Given the description of an element on the screen output the (x, y) to click on. 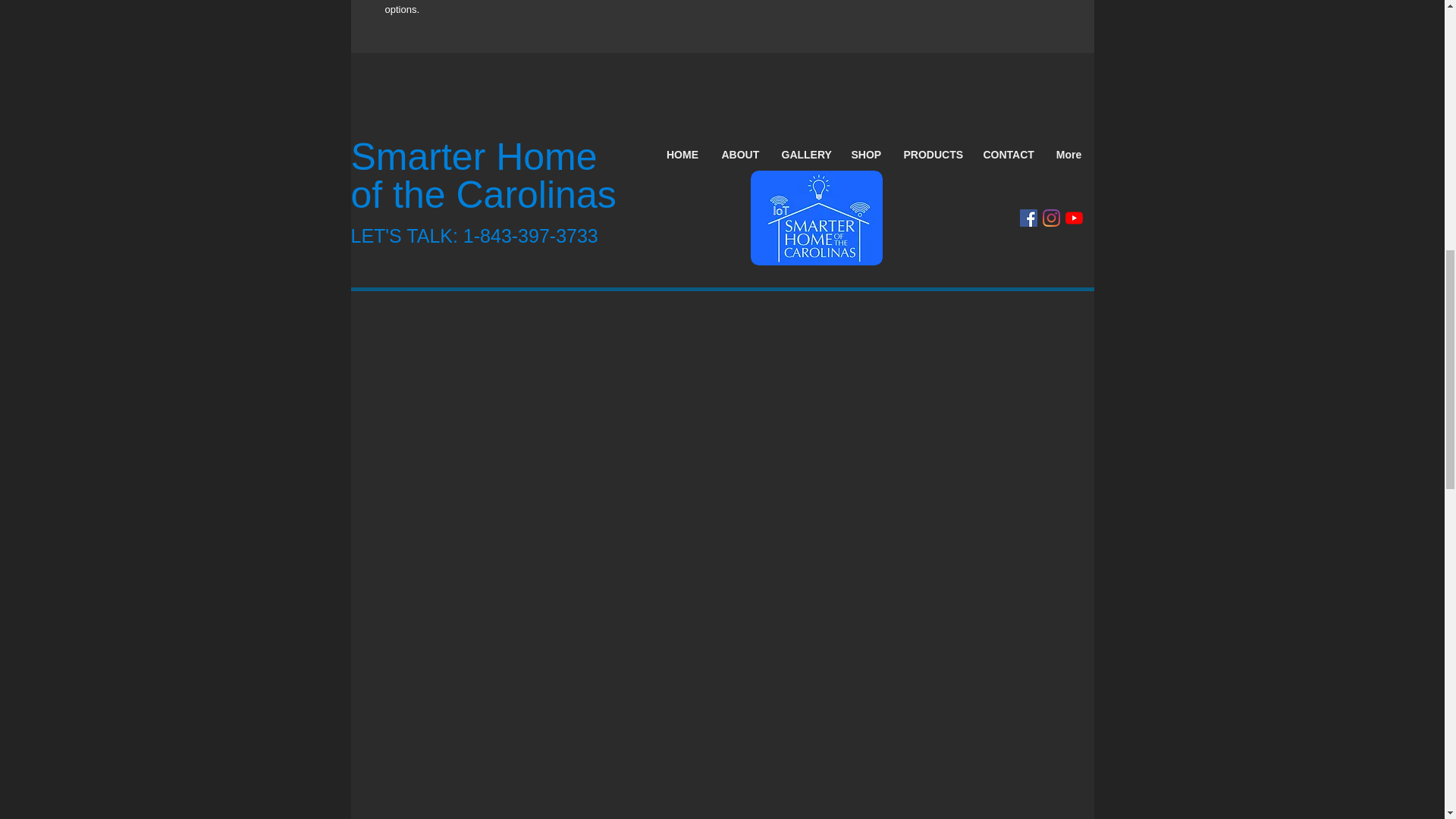
ABOUT (740, 154)
SHOP (866, 154)
PRODUCTS (931, 154)
CONTACT (1007, 154)
GALLERY (805, 154)
HOME (682, 154)
